Given the description of an element on the screen output the (x, y) to click on. 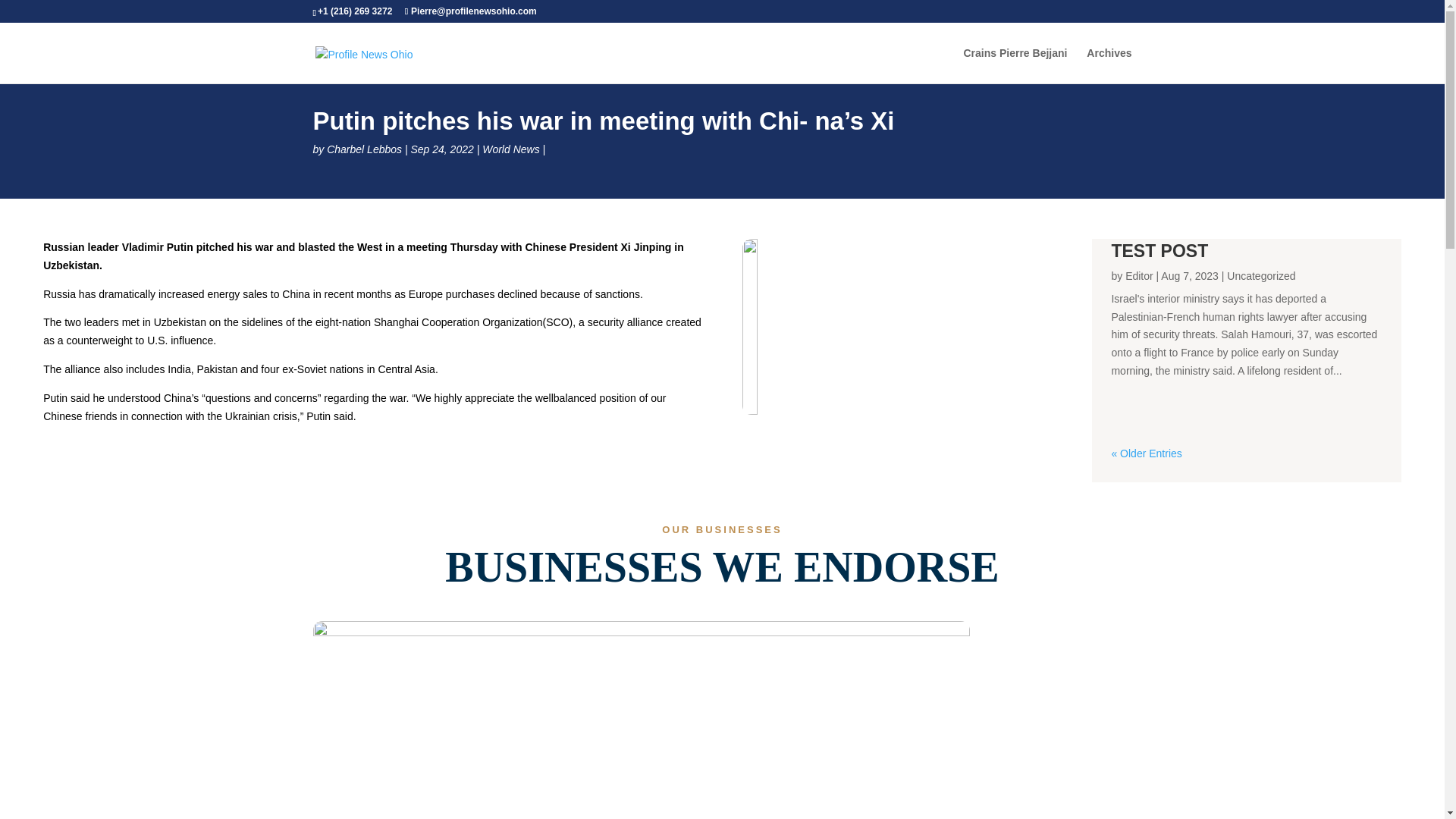
Posts by Editor (1139, 275)
TEST POST (1159, 250)
World News (509, 149)
Archives (1108, 65)
7 (641, 719)
Editor (1139, 275)
Charbel Lebbos (363, 149)
Crains Pierre Bejjani (1014, 65)
Uncategorized (1261, 275)
Posts by Charbel Lebbos (363, 149)
